Given the description of an element on the screen output the (x, y) to click on. 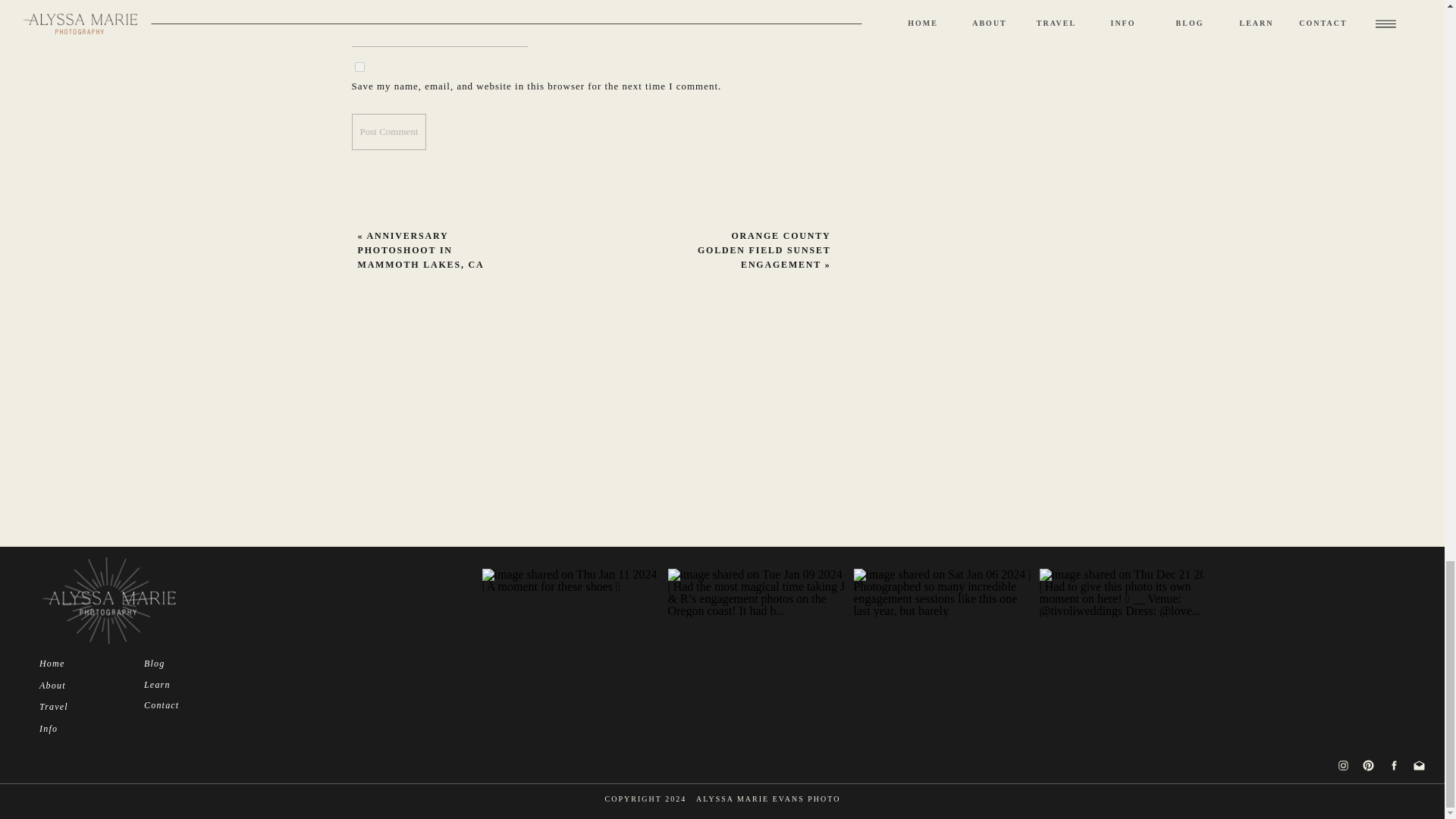
Post Comment (389, 131)
Blog (179, 662)
Contact (179, 704)
ORANGE COUNTY GOLDEN FIELD SUNSET ENGAGEMENT (764, 250)
Info (75, 728)
ANNIVERSARY PHOTOSHOOT IN MAMMOTH LAKES, CA (421, 250)
Travel (75, 705)
About (75, 684)
yes (360, 67)
Post Comment (389, 131)
Home (75, 662)
